Given the description of an element on the screen output the (x, y) to click on. 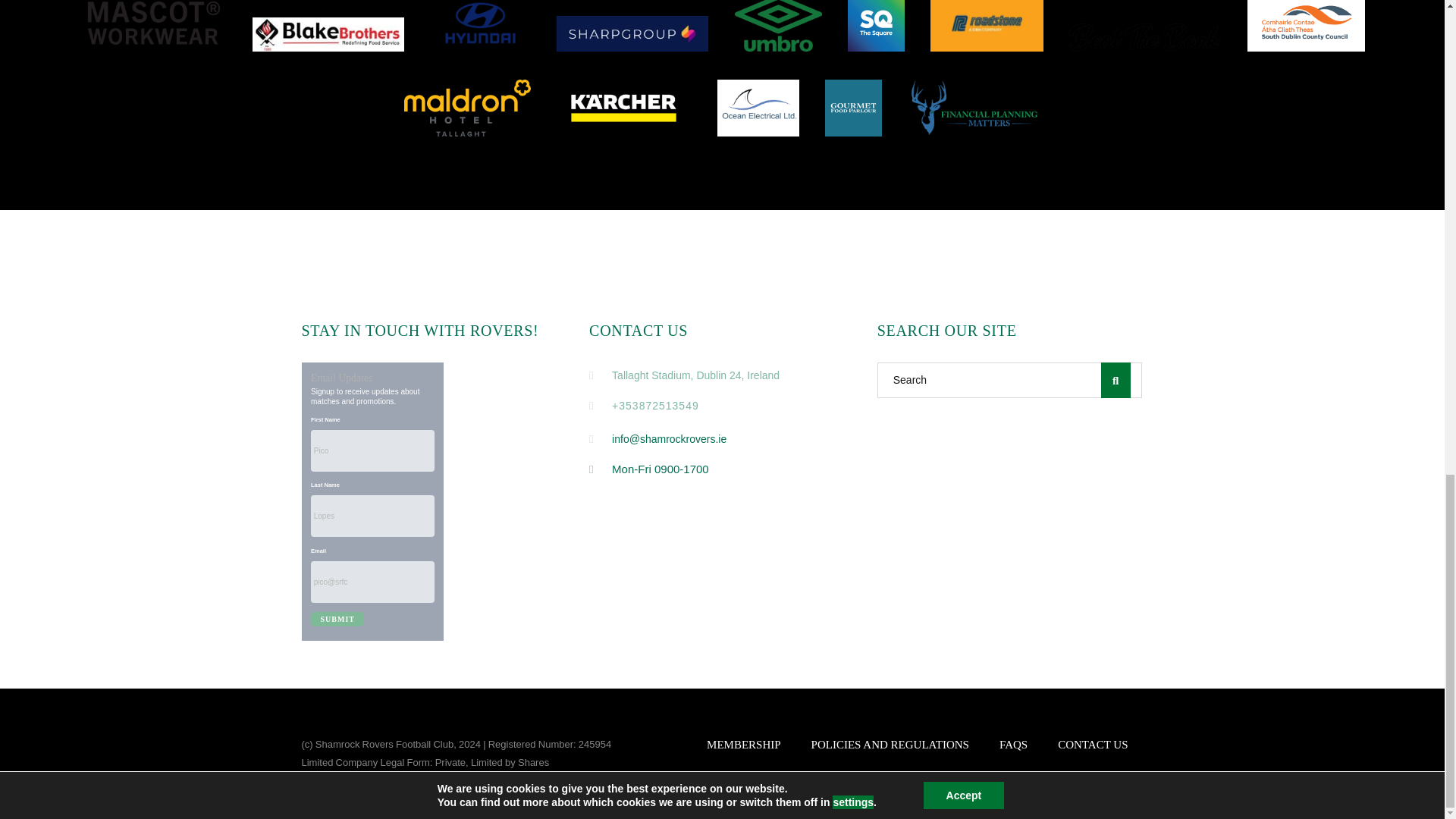
South Dublin County Council (1306, 25)
Ocean Electrical (758, 107)
Blake Brothers (327, 34)
Umbro (778, 25)
Maldron (467, 107)
Sharp Group (631, 33)
Beat the Bank (1144, 37)
Hyundai (480, 25)
Roadstone (986, 25)
The Square (875, 25)
